Given the description of an element on the screen output the (x, y) to click on. 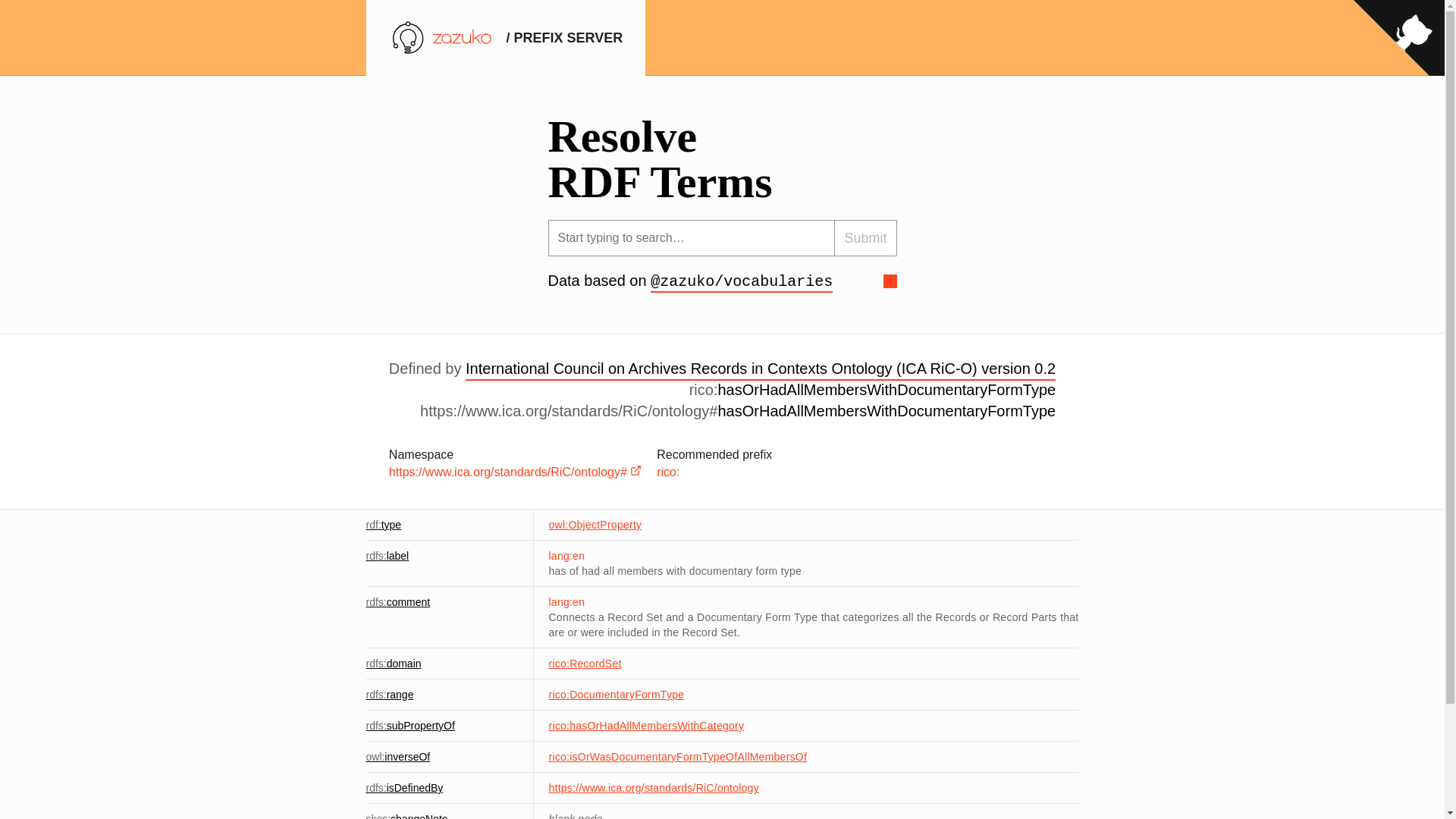
rdfs: comment (397, 602)
Submit (865, 238)
owl:ObjectProperty (595, 524)
rico:hasOrHadAllMembersWithCategory (646, 725)
rdf: type (383, 524)
rdfs: isDefinedBy (403, 787)
skos: changeNote (405, 816)
rdfs: subPropertyOf (409, 725)
rdfs: label (387, 555)
rico:DocumentaryFormType (616, 694)
rico: (667, 472)
owl: inverseOf (397, 756)
rdfs: range (389, 694)
rico:RecordSet (584, 663)
rdfs: domain (392, 663)
